Given the description of an element on the screen output the (x, y) to click on. 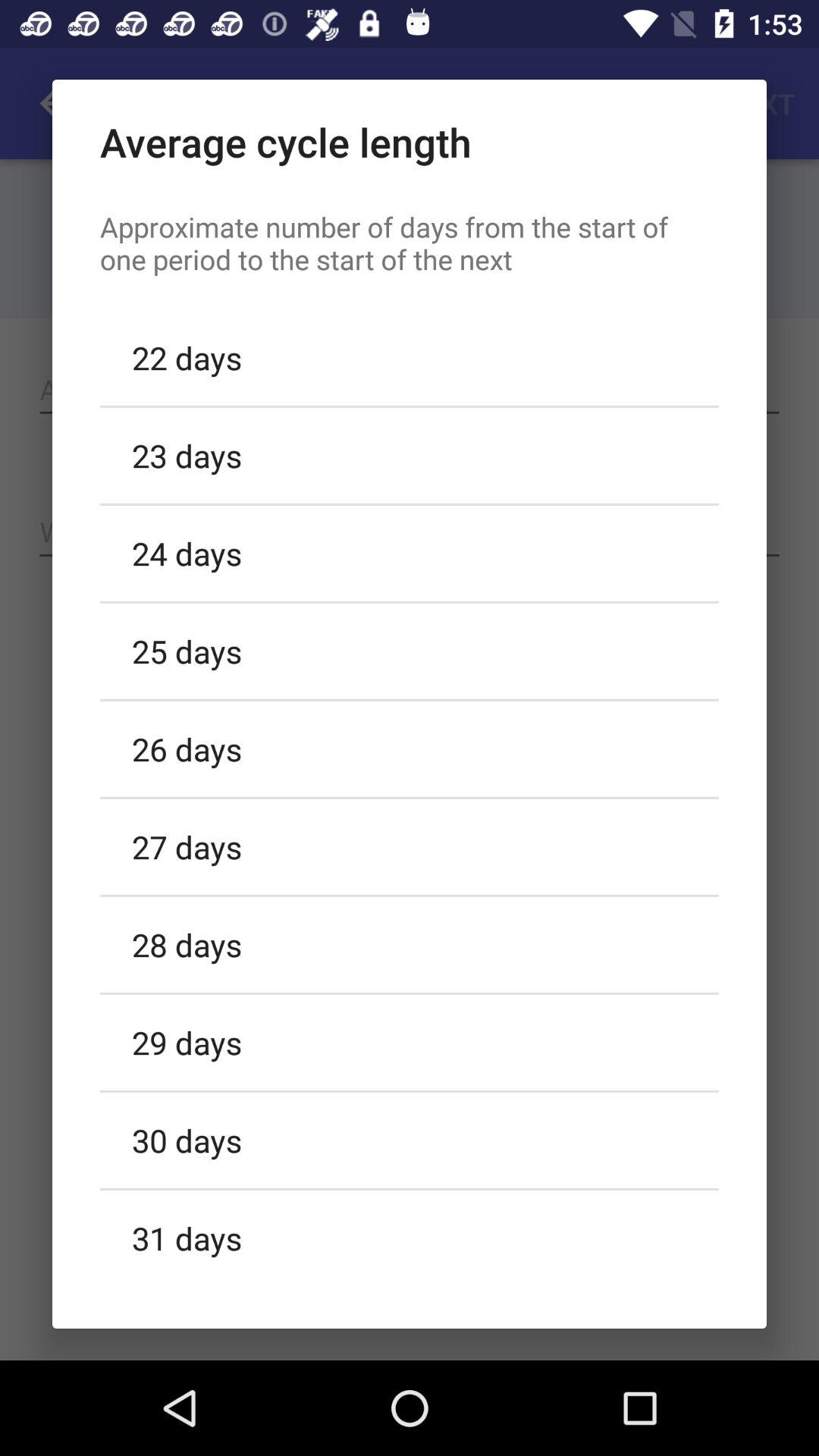
turn off the icon below the 27 days (409, 944)
